Given the description of an element on the screen output the (x, y) to click on. 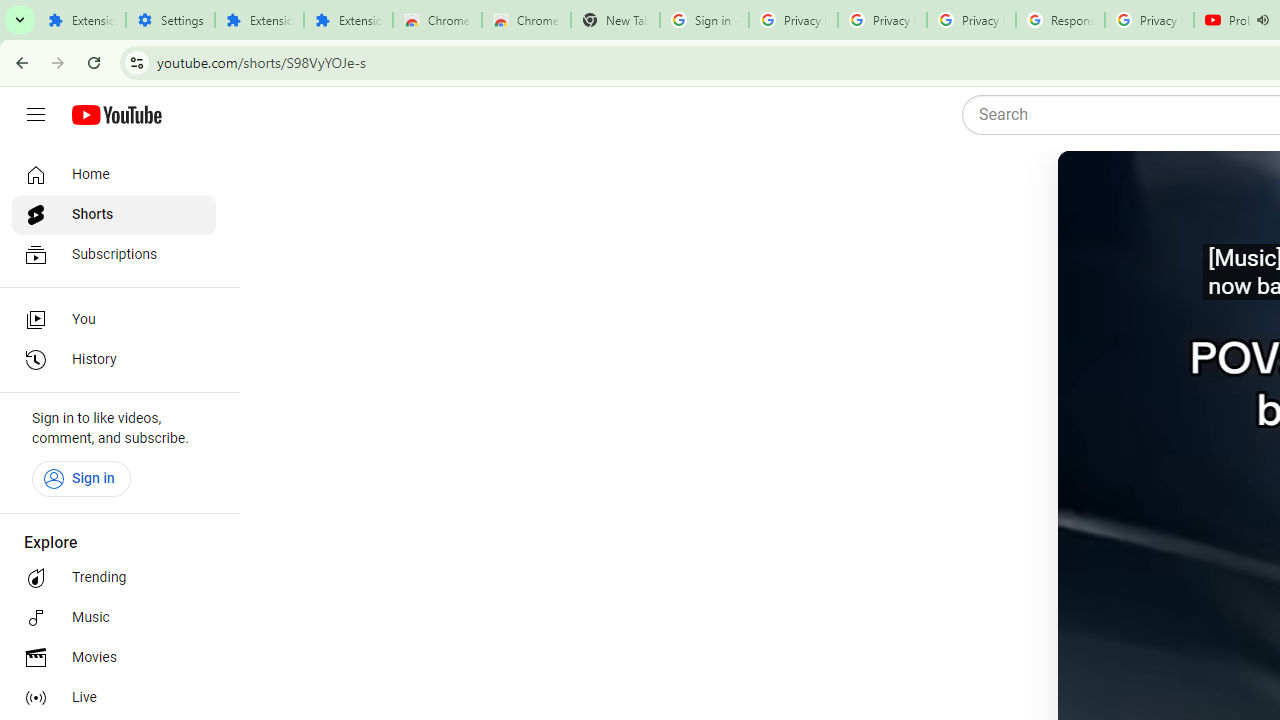
Extensions (259, 20)
History (113, 359)
Settings (170, 20)
Mute (1154, 191)
Guide (35, 115)
Chrome Web Store - Themes (526, 20)
Chrome Web Store (437, 20)
You (113, 319)
Sign in (81, 478)
Mute tab (1262, 20)
View site information (136, 62)
Search tabs (20, 20)
Live (113, 697)
